Given the description of an element on the screen output the (x, y) to click on. 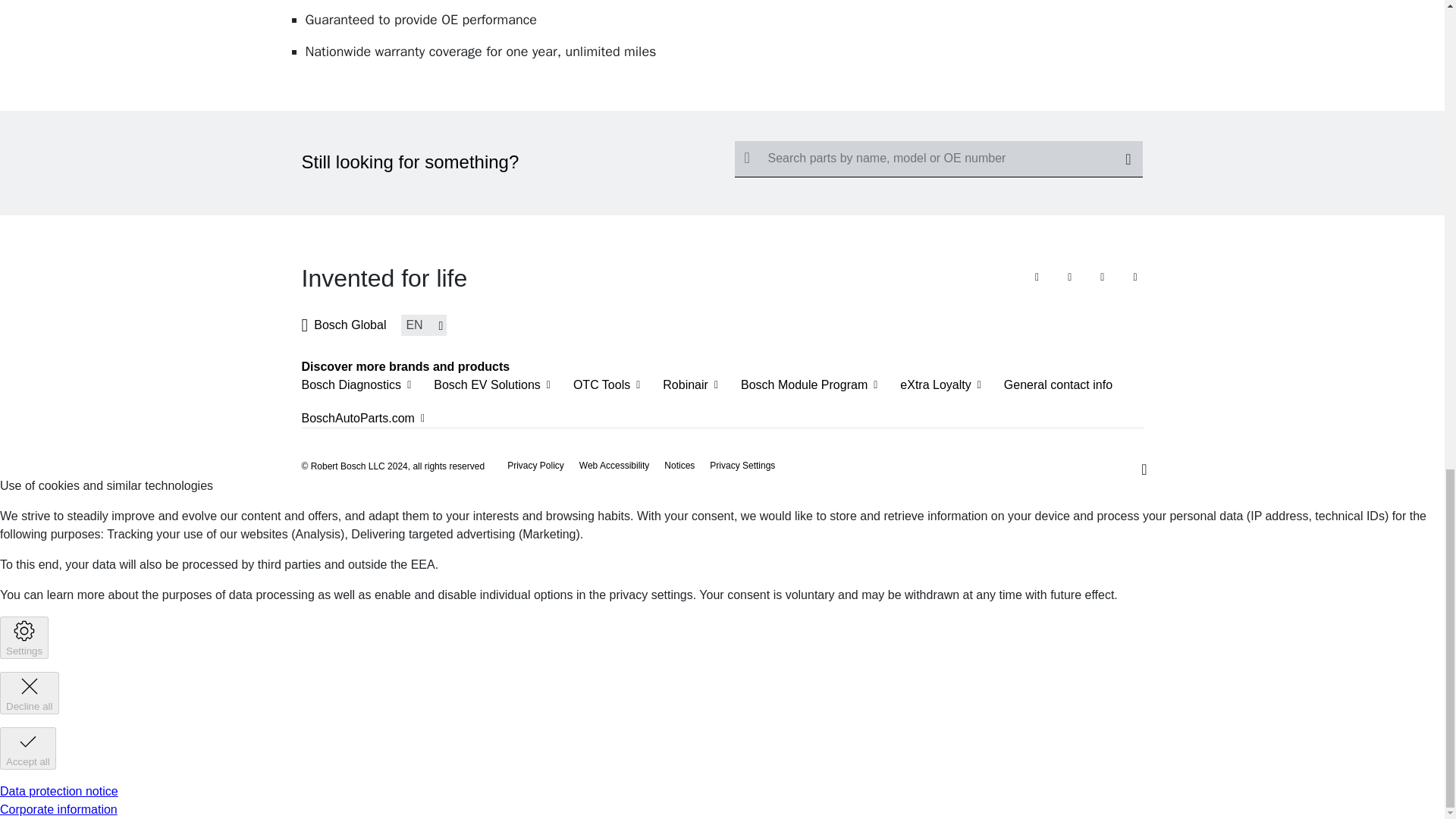
Facebook (1040, 274)
Youtube (1072, 274)
Twitter (1104, 274)
